Given the description of an element on the screen output the (x, y) to click on. 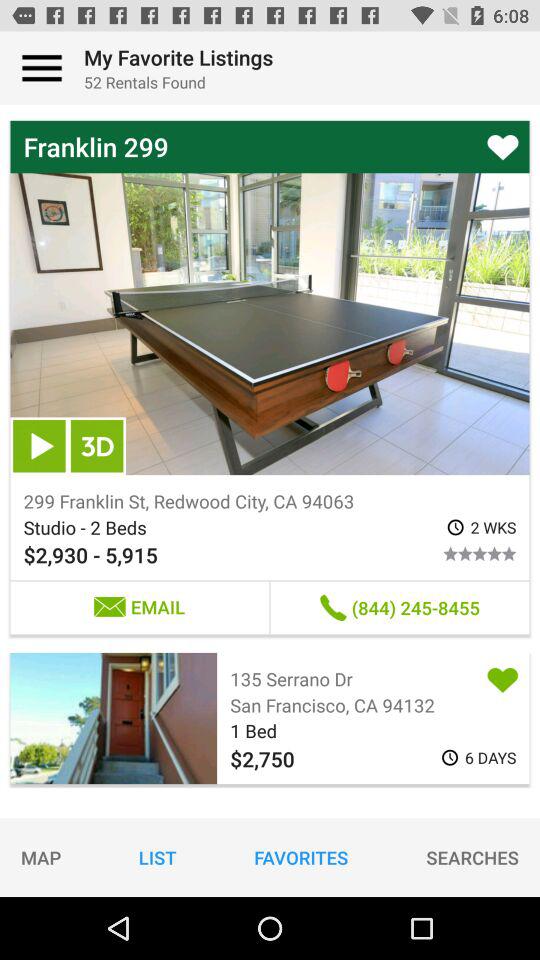
open icon below $2,750 (301, 857)
